Given the description of an element on the screen output the (x, y) to click on. 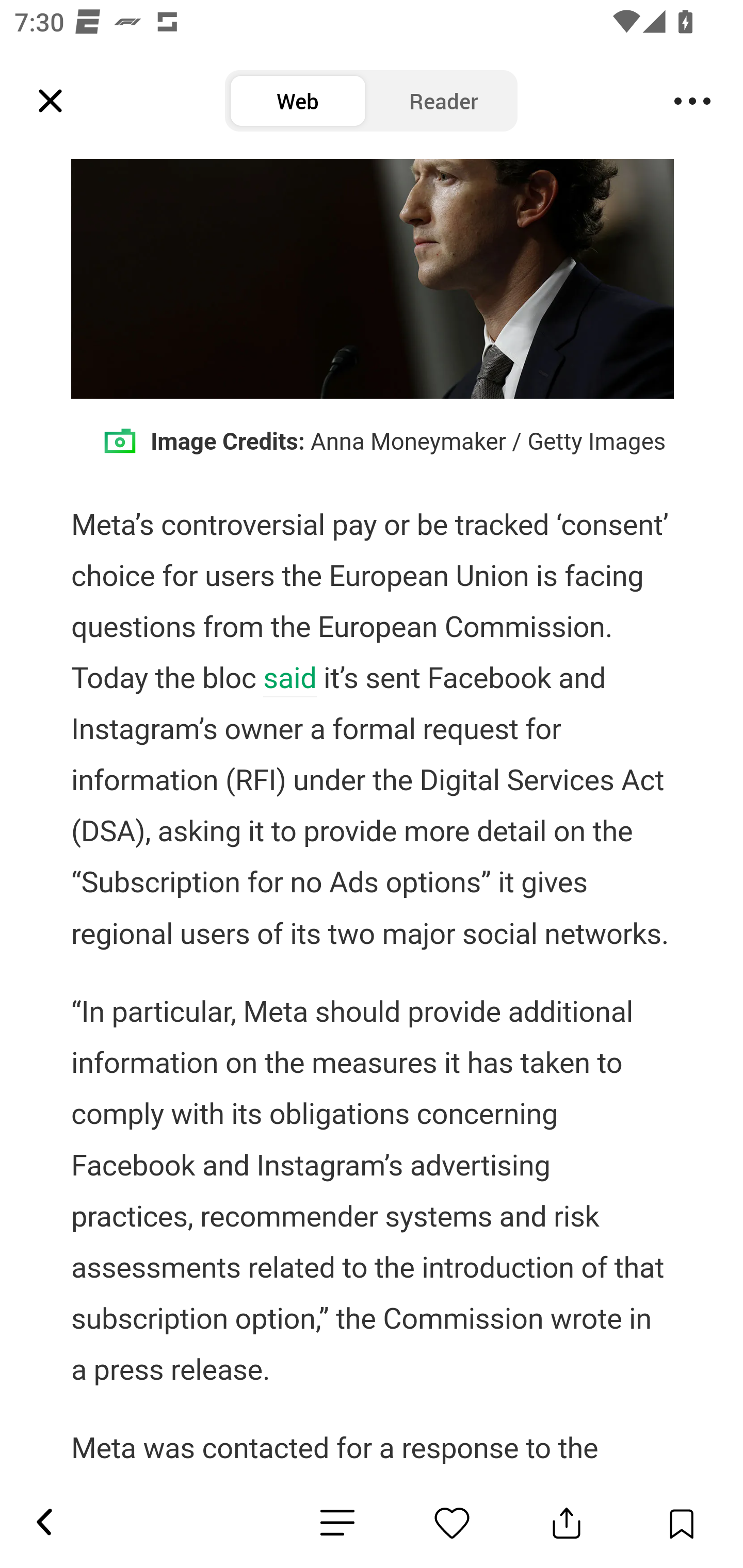
Leading Icon (50, 101)
Reader (443, 101)
Menu (692, 101)
said (290, 680)
Back Button (43, 1523)
News Detail Emotion (451, 1523)
Share Button (566, 1523)
Save Button (680, 1523)
News Detail Emotion (337, 1523)
